Given the description of an element on the screen output the (x, y) to click on. 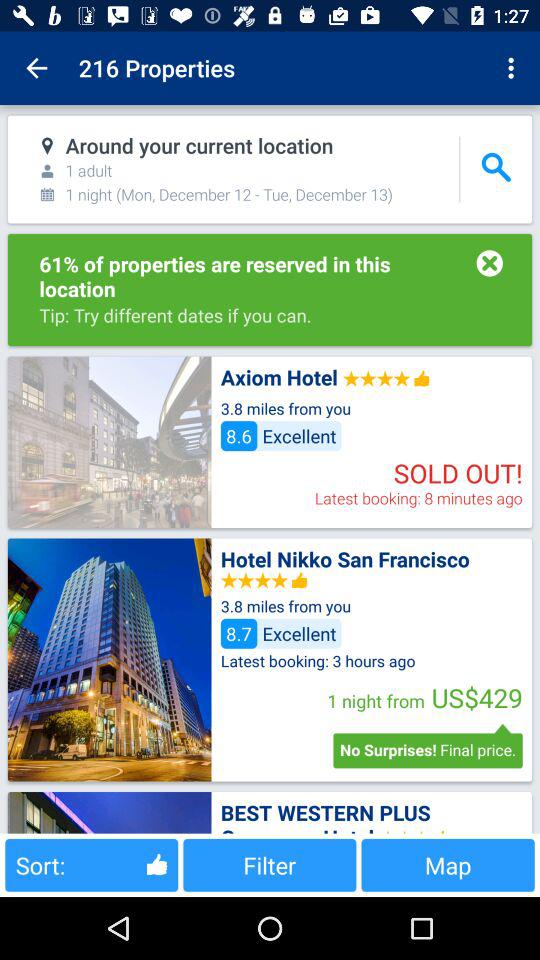
choose item to the left of 216 properties item (36, 68)
